Given the description of an element on the screen output the (x, y) to click on. 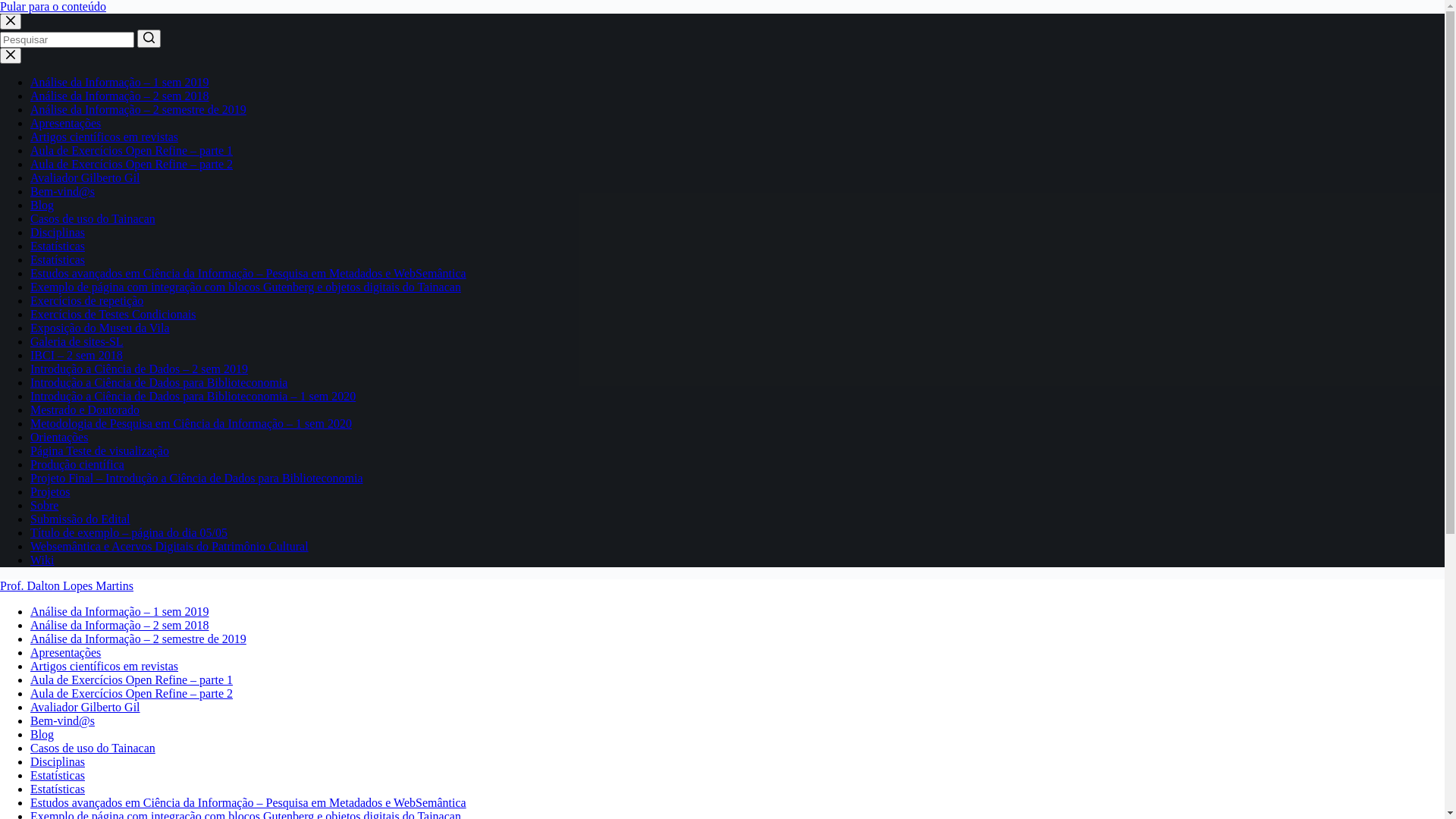
Blog Element type: text (41, 204)
Mestrado e Doutorado Element type: text (84, 409)
Avaliador Gilberto Gil Element type: text (85, 706)
Projetos Element type: text (49, 491)
Casos de uso do Tainacan Element type: text (92, 747)
Avaliador Gilberto Gil Element type: text (85, 177)
Sobre Element type: text (44, 504)
Pesquisar por... Element type: hover (67, 39)
Galeria de sites-SL Element type: text (76, 341)
Bem-vind@s Element type: text (62, 191)
Bem-vind@s Element type: text (62, 720)
Disciplinas Element type: text (57, 761)
Prof. Dalton Lopes Martins Element type: text (66, 585)
Disciplinas Element type: text (57, 231)
Casos de uso do Tainacan Element type: text (92, 218)
Blog Element type: text (41, 734)
Wiki Element type: text (41, 559)
